Given the description of an element on the screen output the (x, y) to click on. 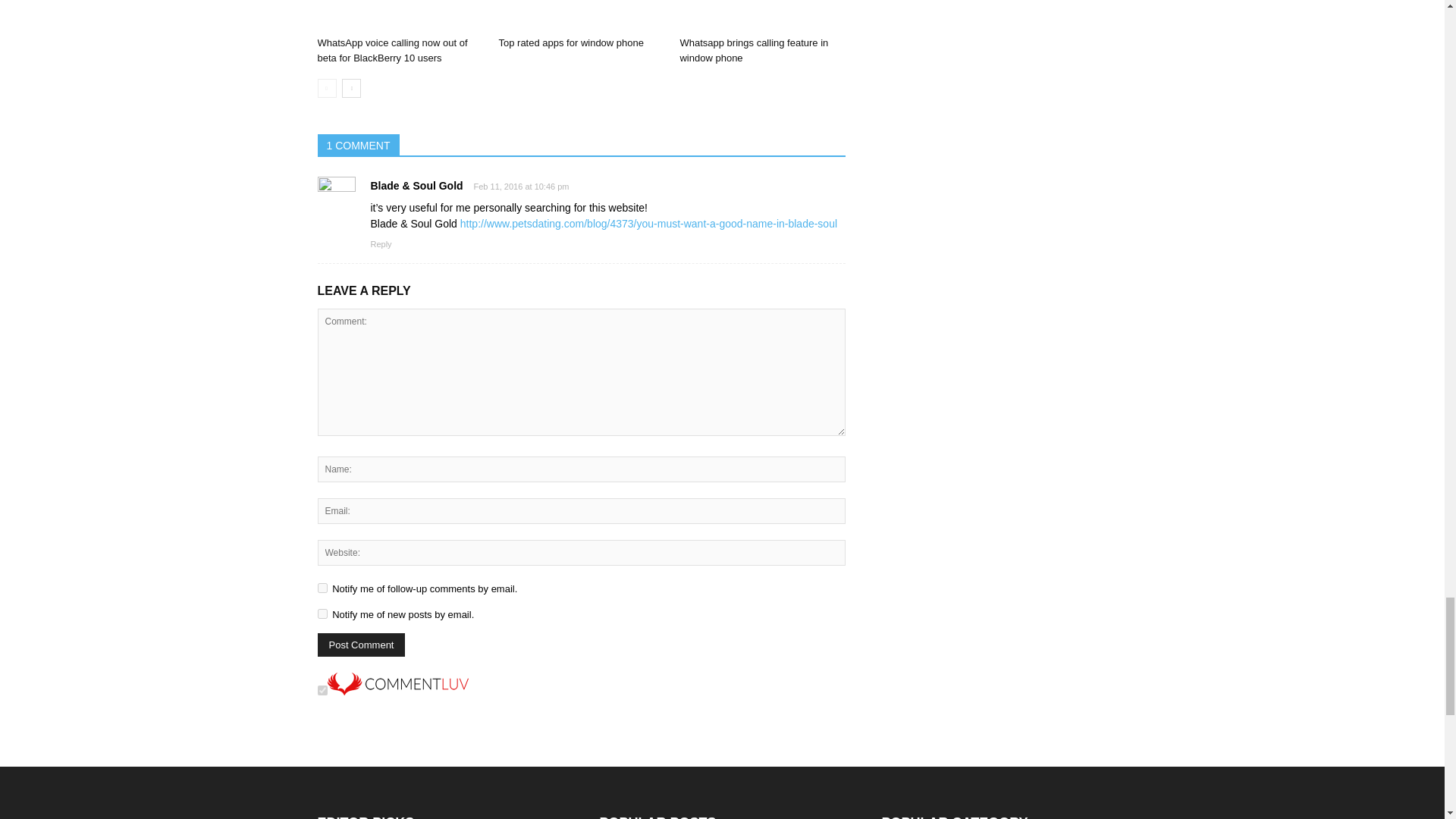
subscribe (321, 614)
Top rated apps for window phone (570, 42)
on (321, 690)
Post Comment (360, 644)
Whatsapp brings calling feature in window phone (761, 15)
Top rated apps for window phone (580, 15)
subscribe (321, 587)
